Given the description of an element on the screen output the (x, y) to click on. 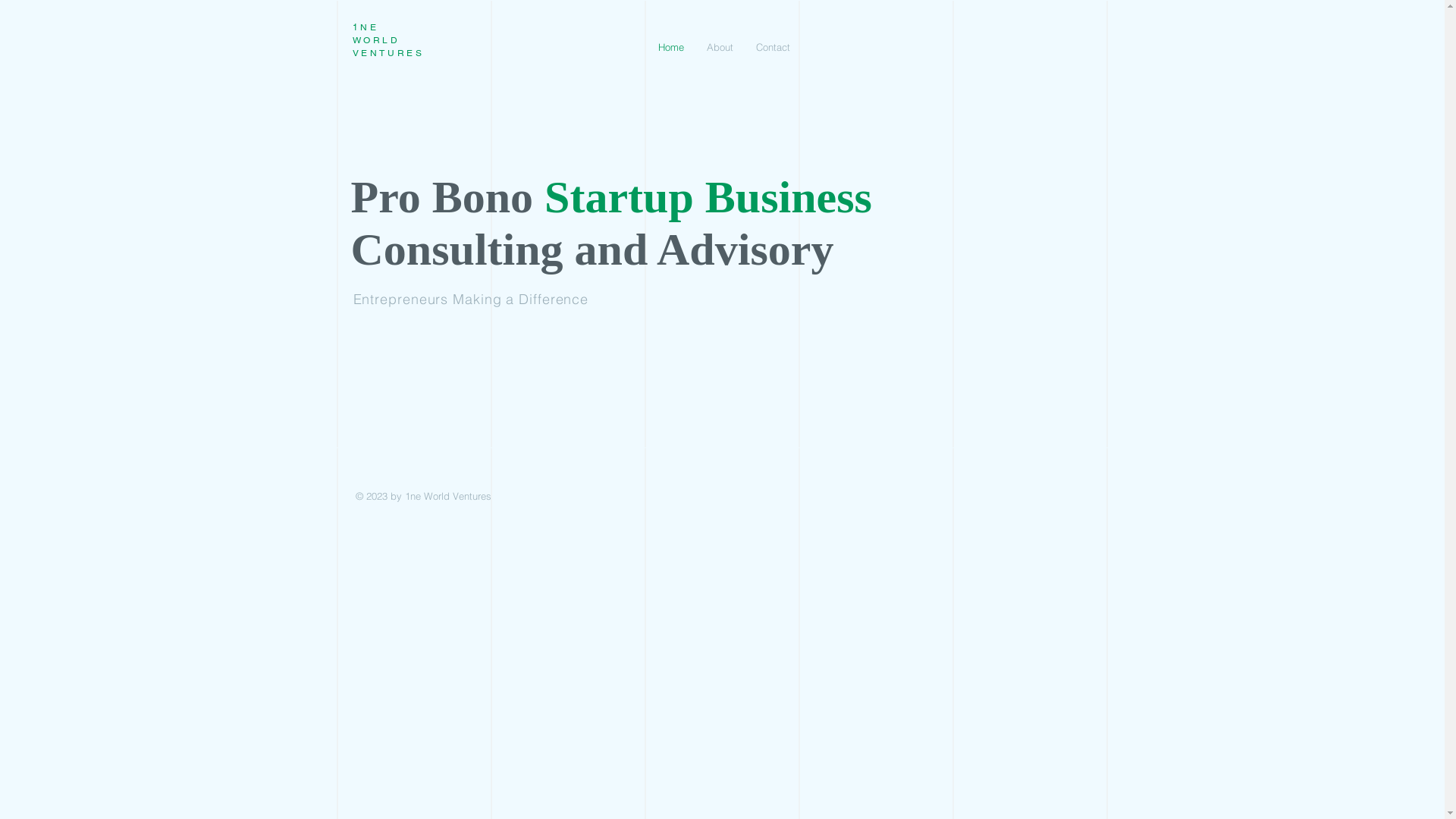
About Element type: text (718, 47)
Home Element type: text (670, 47)
1NE Element type: text (364, 26)
VENTURES Element type: text (387, 52)
Contact Element type: text (772, 47)
WORLD Element type: text (375, 39)
